Given the description of an element on the screen output the (x, y) to click on. 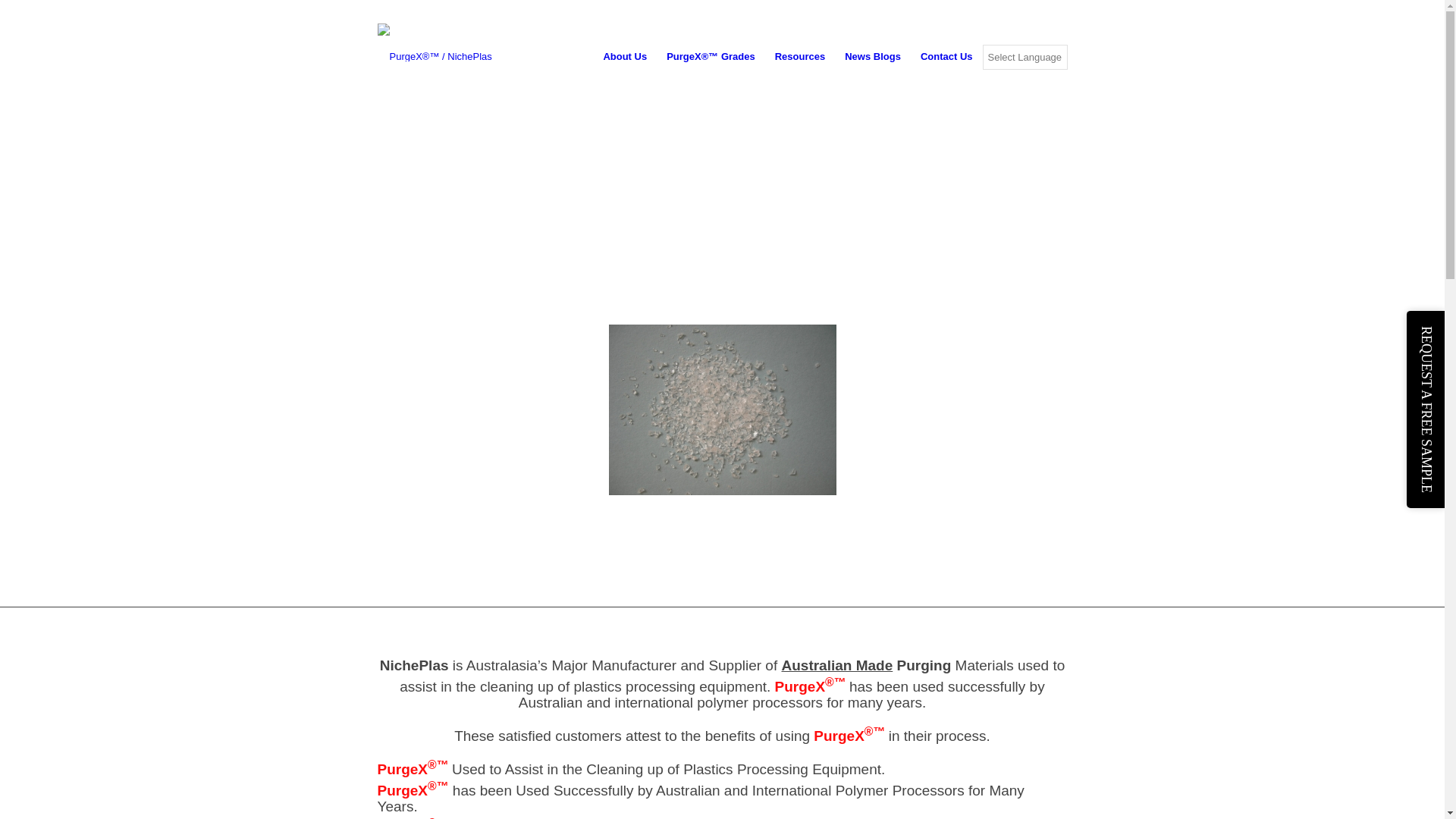
Contact Us Element type: text (946, 56)
News Blogs Element type: text (872, 56)
About Us Element type: text (624, 56)
REQUEST A FREE SAMPLE Element type: text (1425, 409)
Resources Element type: text (799, 56)
